Given the description of an element on the screen output the (x, y) to click on. 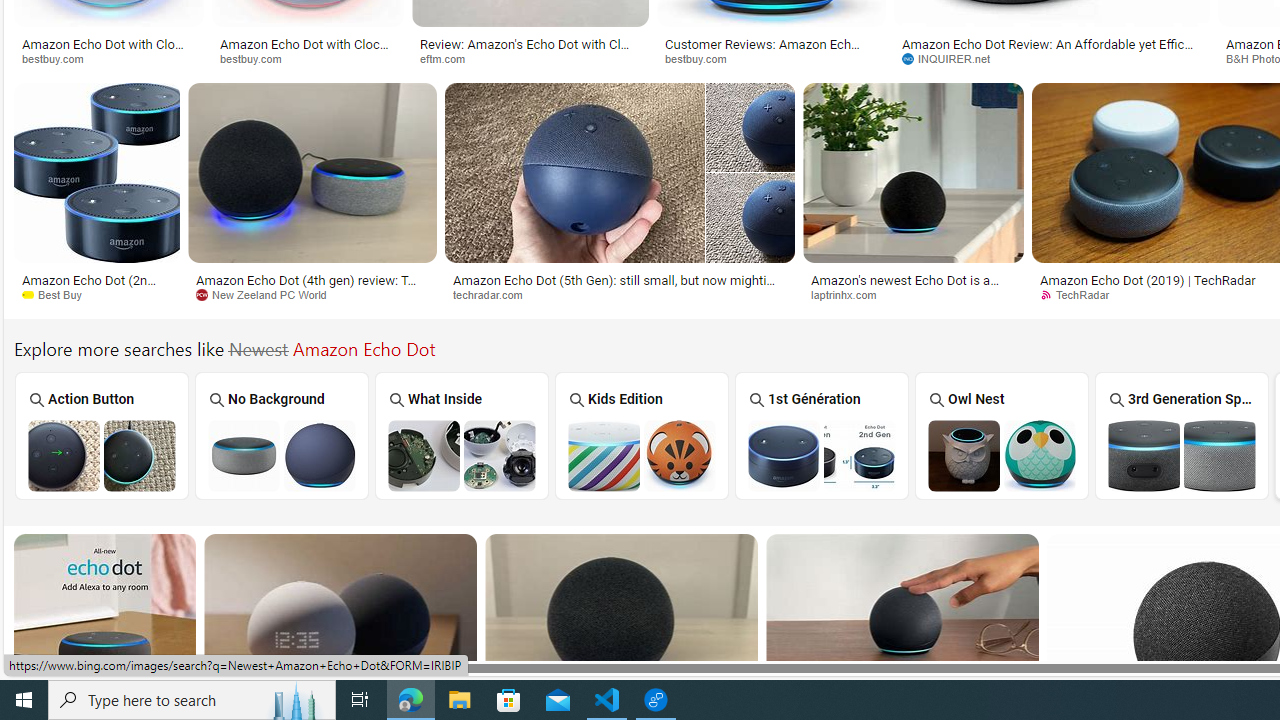
bestbuy.com (703, 57)
What Inside (461, 435)
bestbuy.com (771, 58)
Amazon Echo Dot Owl and Nest (1002, 455)
TechRadar (1081, 294)
No Background (281, 435)
